Given the description of an element on the screen output the (x, y) to click on. 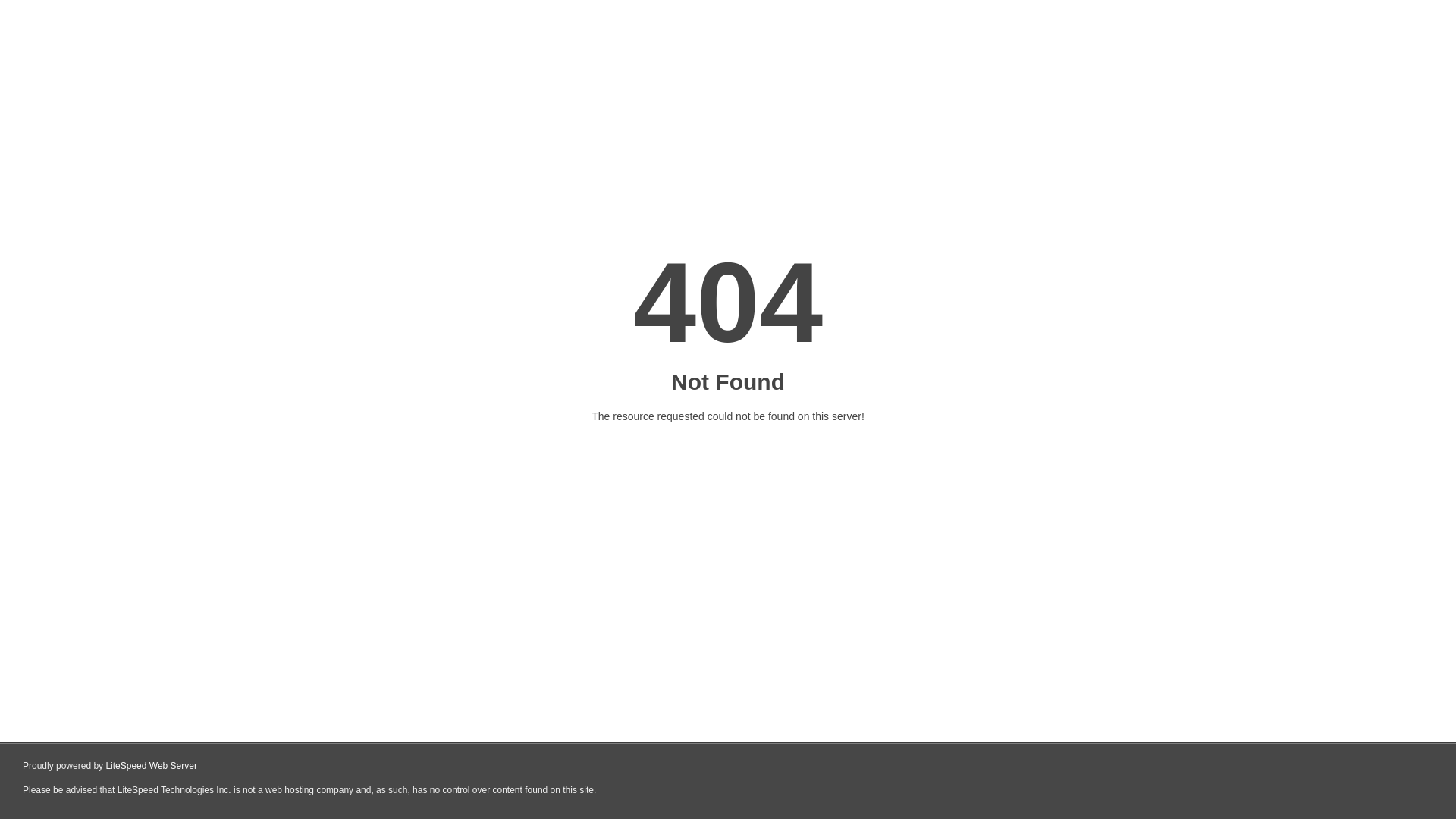
LiteSpeed Web Server Element type: text (151, 765)
